Given the description of an element on the screen output the (x, y) to click on. 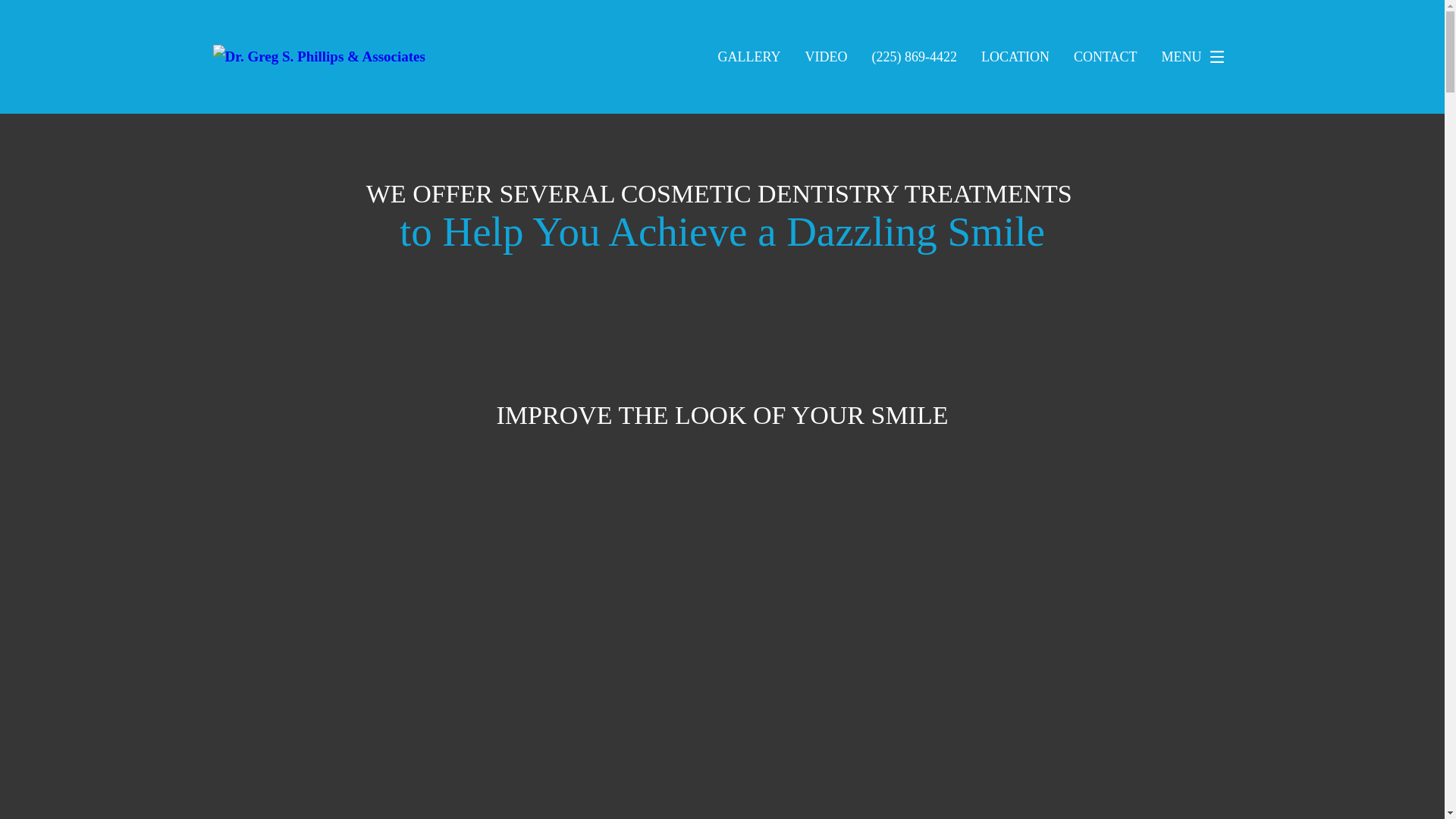
MENU (1196, 56)
CONTACT (1105, 56)
LOCATION (1015, 56)
VIDEO (826, 56)
GALLERY (748, 56)
